Given the description of an element on the screen output the (x, y) to click on. 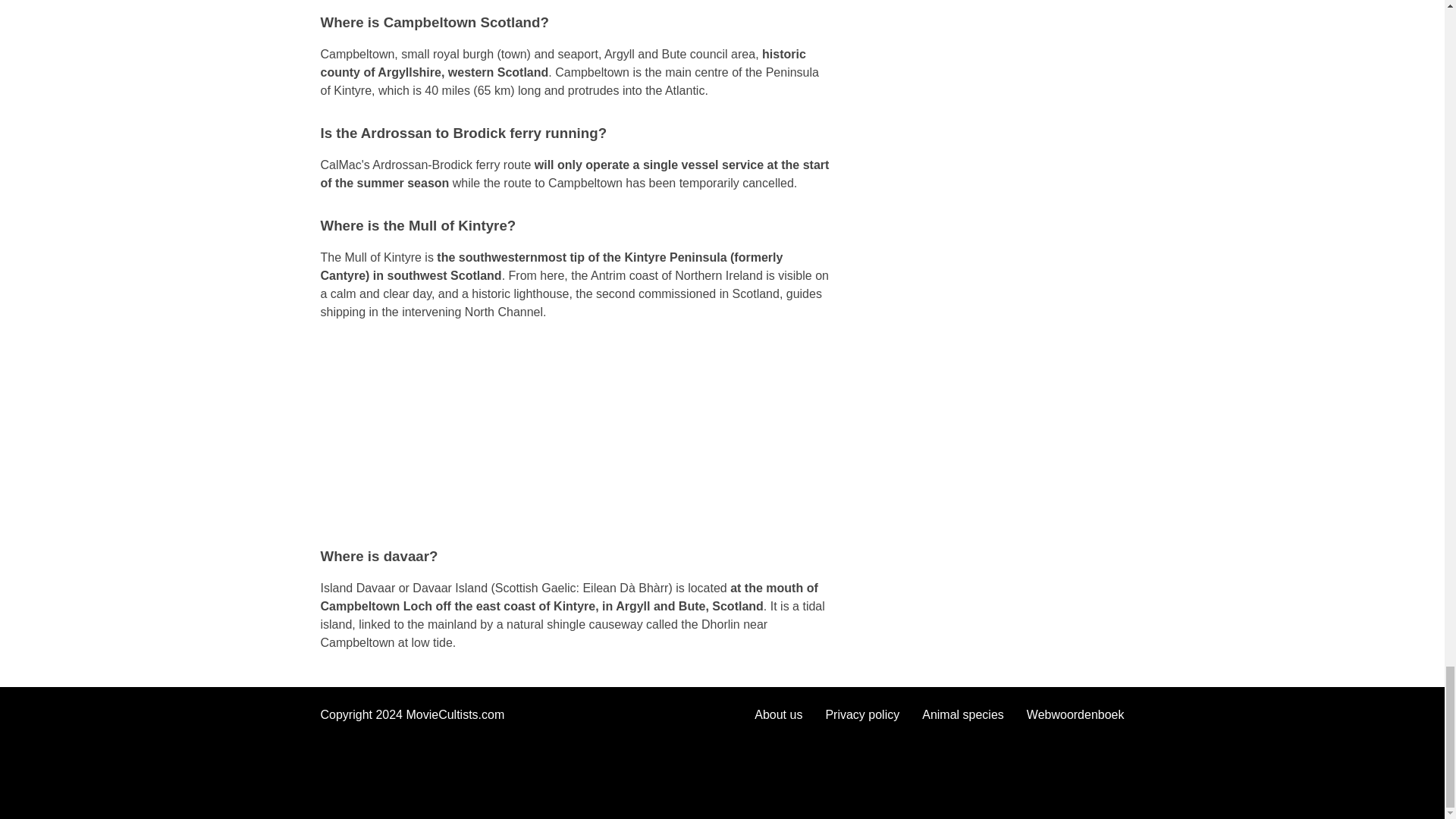
Animal species (962, 714)
Webwoordenboek (1075, 714)
Privacy policy (862, 714)
About us (778, 714)
